Given the description of an element on the screen output the (x, y) to click on. 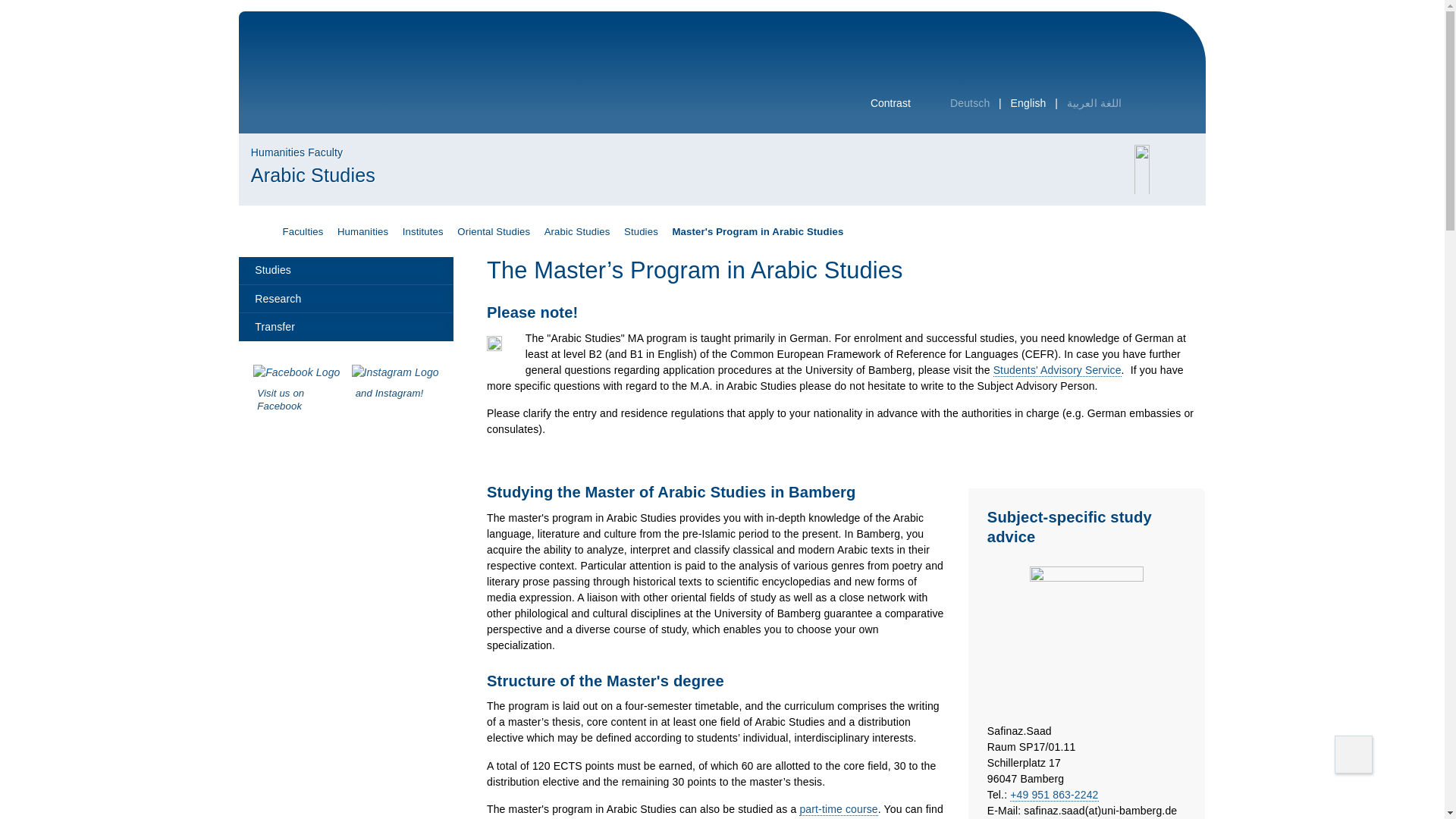
Institute of Oriental Studies (493, 232)
Institutes (423, 232)
  University of Bamberg (375, 79)
University of Bamberg (375, 79)
Deutsch (970, 103)
Oriental Studies (493, 232)
Humanities Faculty (296, 152)
Arabic Studies (312, 175)
Humanities (362, 232)
Studies (641, 232)
